Given the description of an element on the screen output the (x, y) to click on. 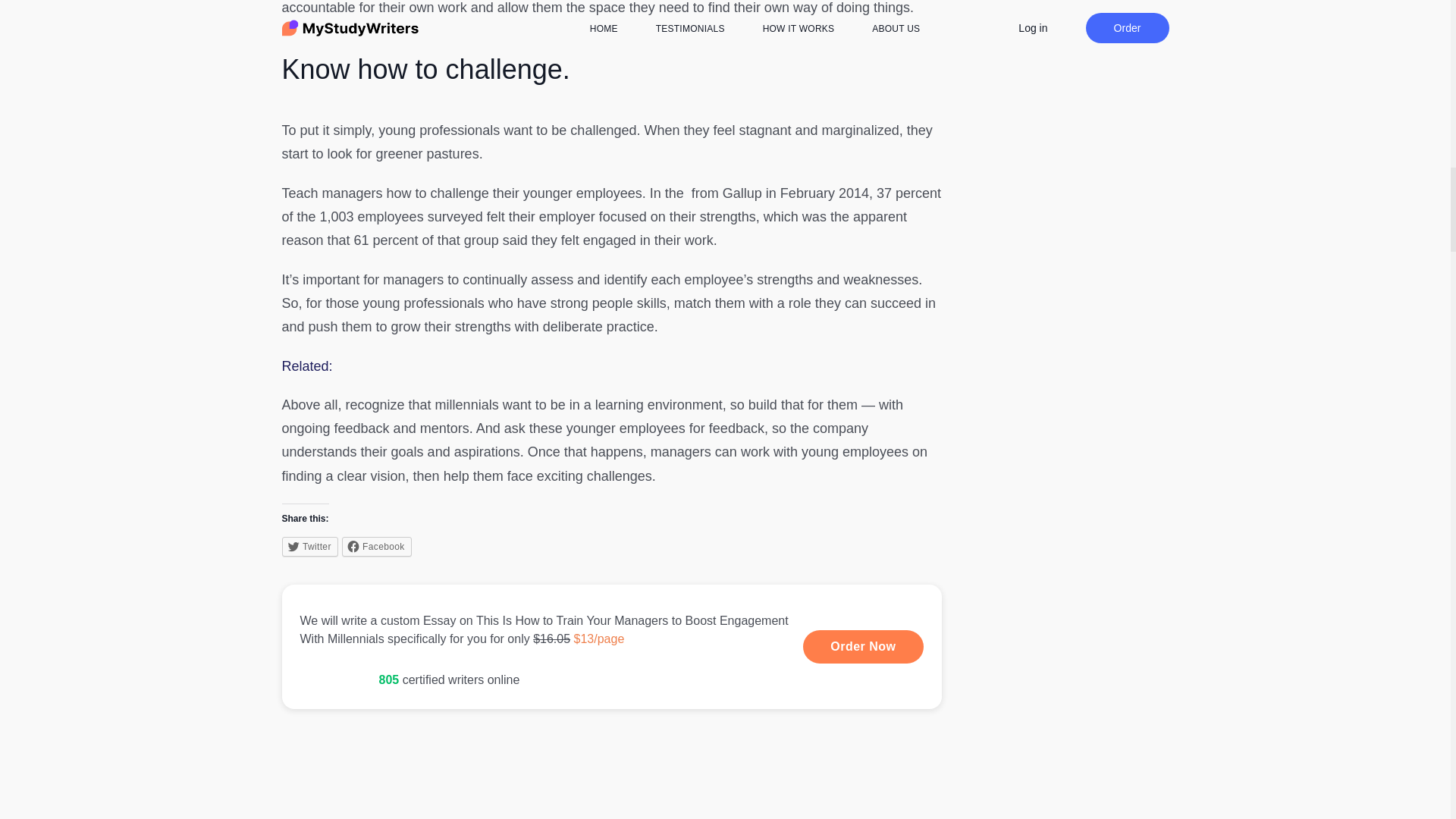
Click to share on Facebook (377, 546)
Twitter (309, 546)
Facebook (377, 546)
Learn More (863, 645)
Learn More (612, 645)
Click to share on Twitter (309, 546)
